Given the description of an element on the screen output the (x, y) to click on. 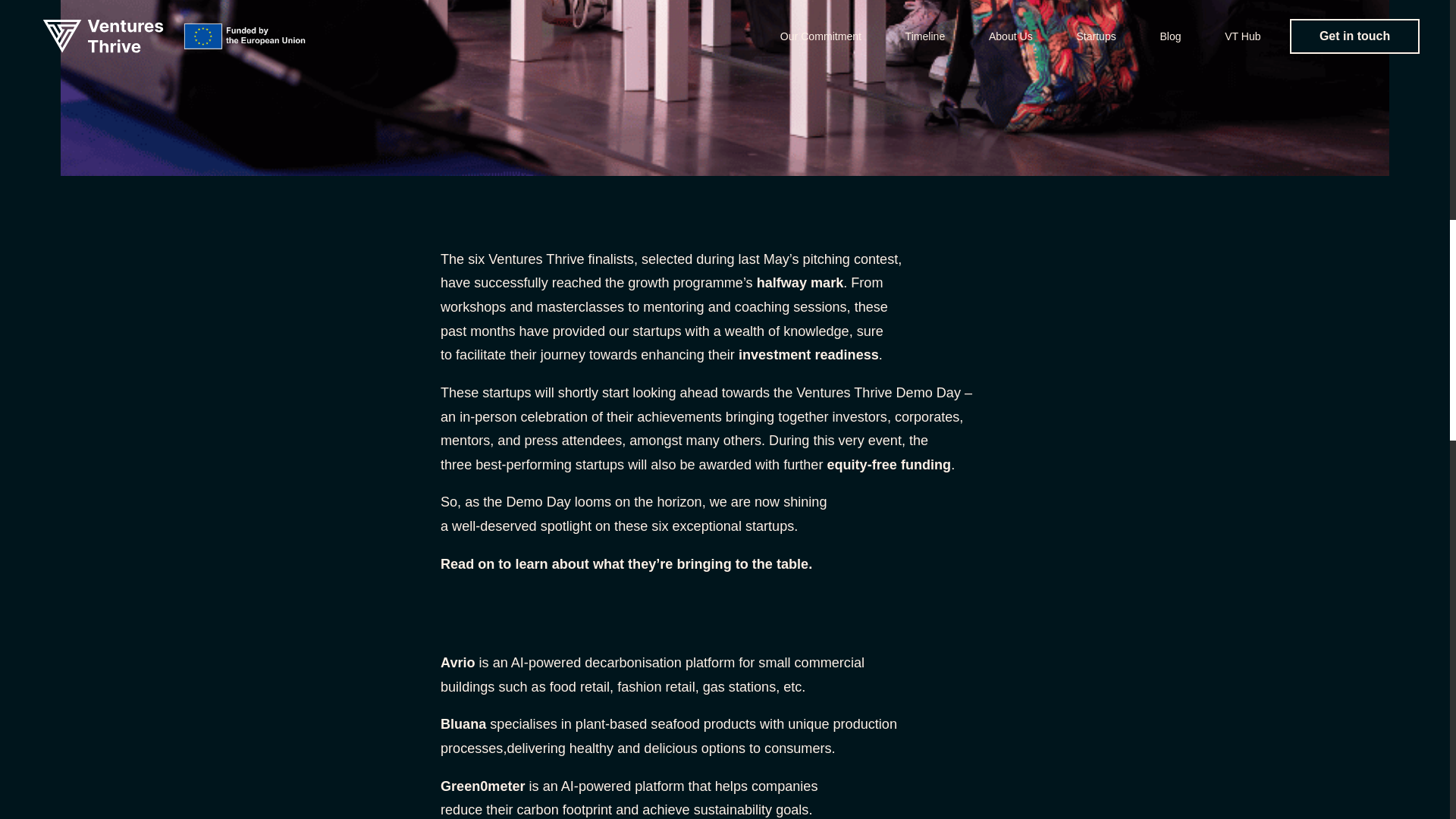
Bluana (463, 724)
Green0meter (483, 785)
Avrio (458, 662)
